Given the description of an element on the screen output the (x, y) to click on. 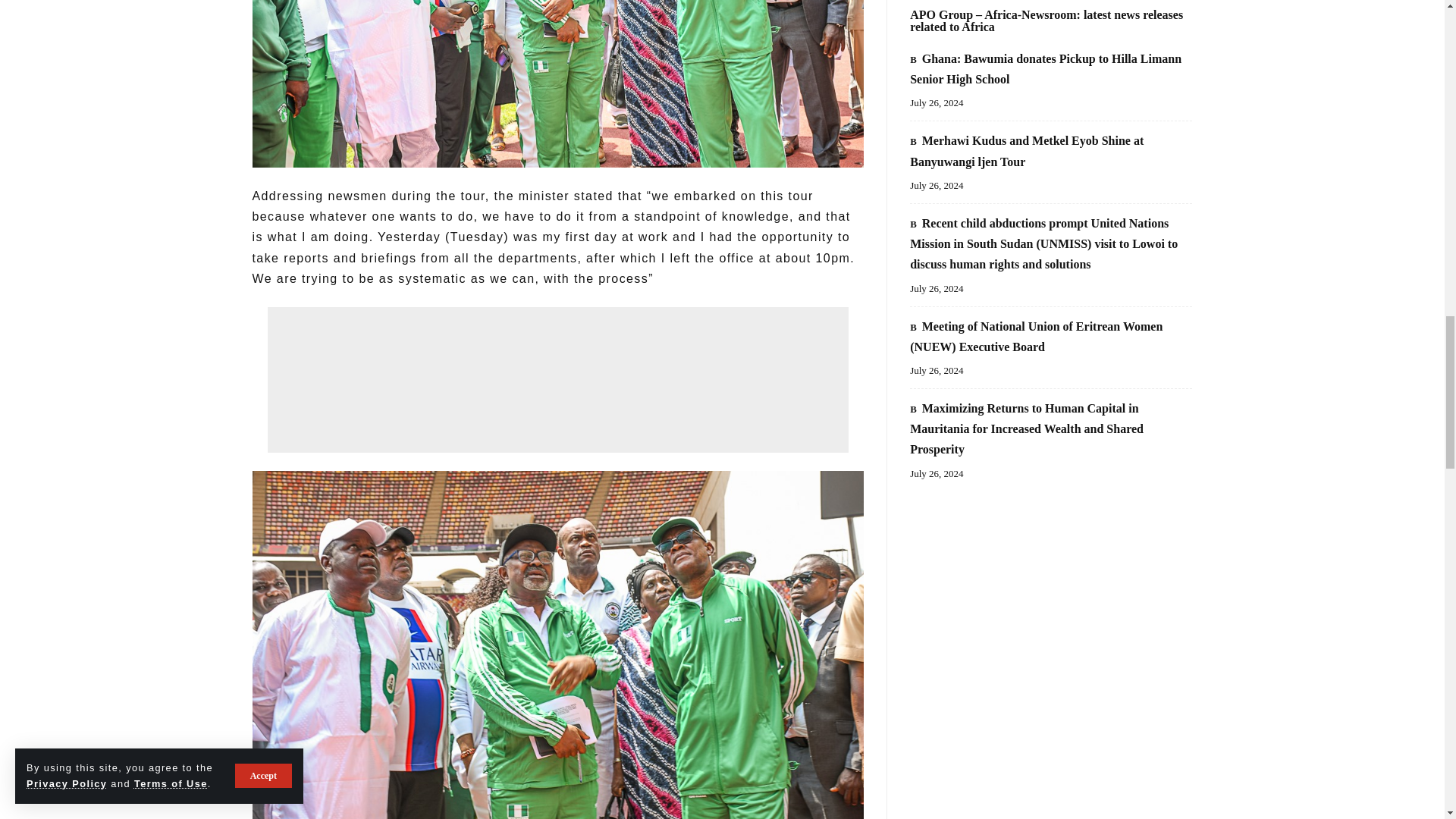
WhatsApp Image 2023 08 23 at 3.08.52 PM 1 (557, 83)
